Given the description of an element on the screen output the (x, y) to click on. 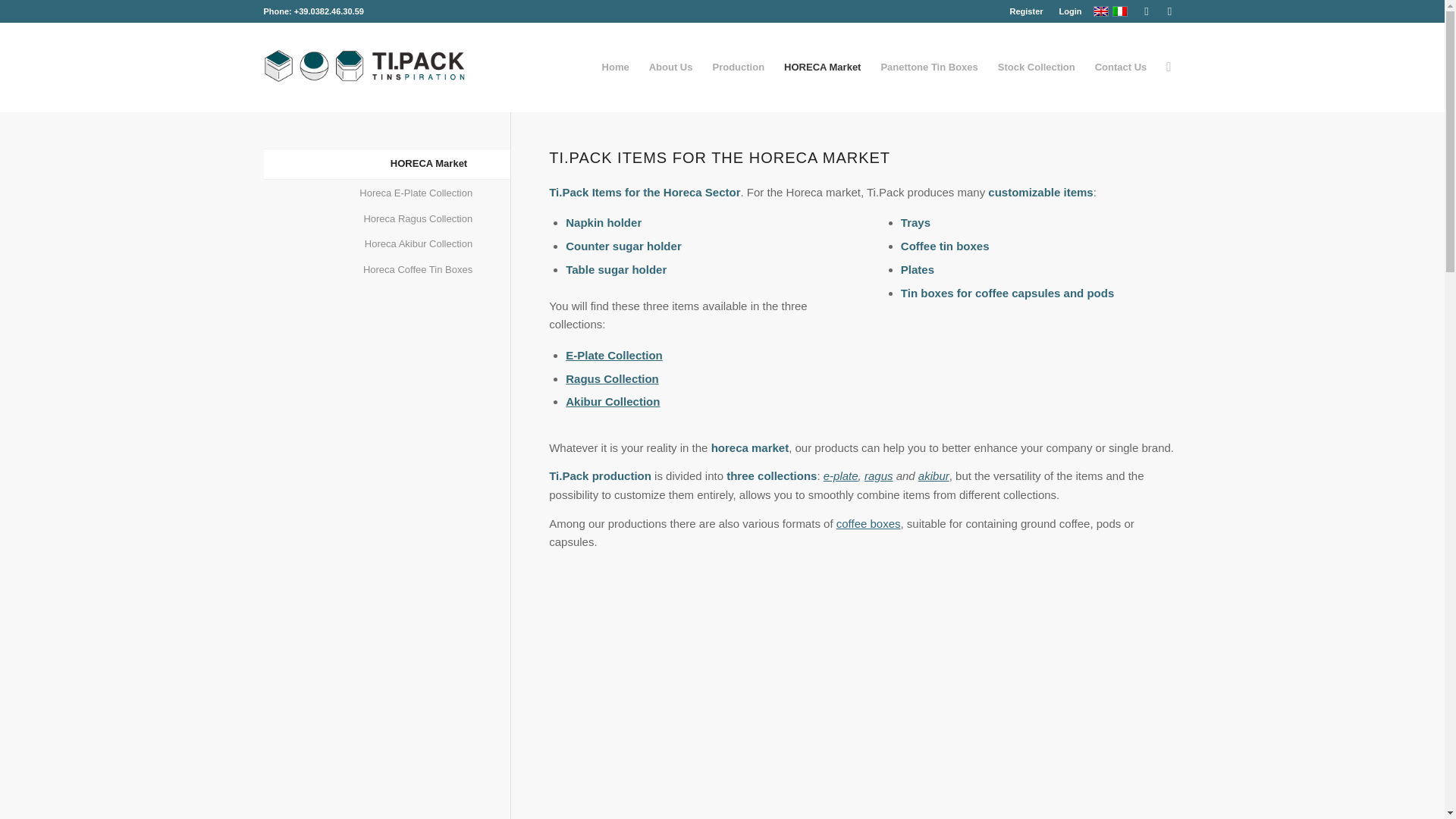
akibur (933, 475)
Akibur Collection (612, 400)
Facebook (1146, 11)
Panettone Tin Boxes (928, 67)
Stock Collection (1036, 67)
Register (1026, 11)
E-Plate Collection (614, 354)
e-plate (841, 475)
Login (1070, 11)
Ragus Collection (612, 377)
